Given the description of an element on the screen output the (x, y) to click on. 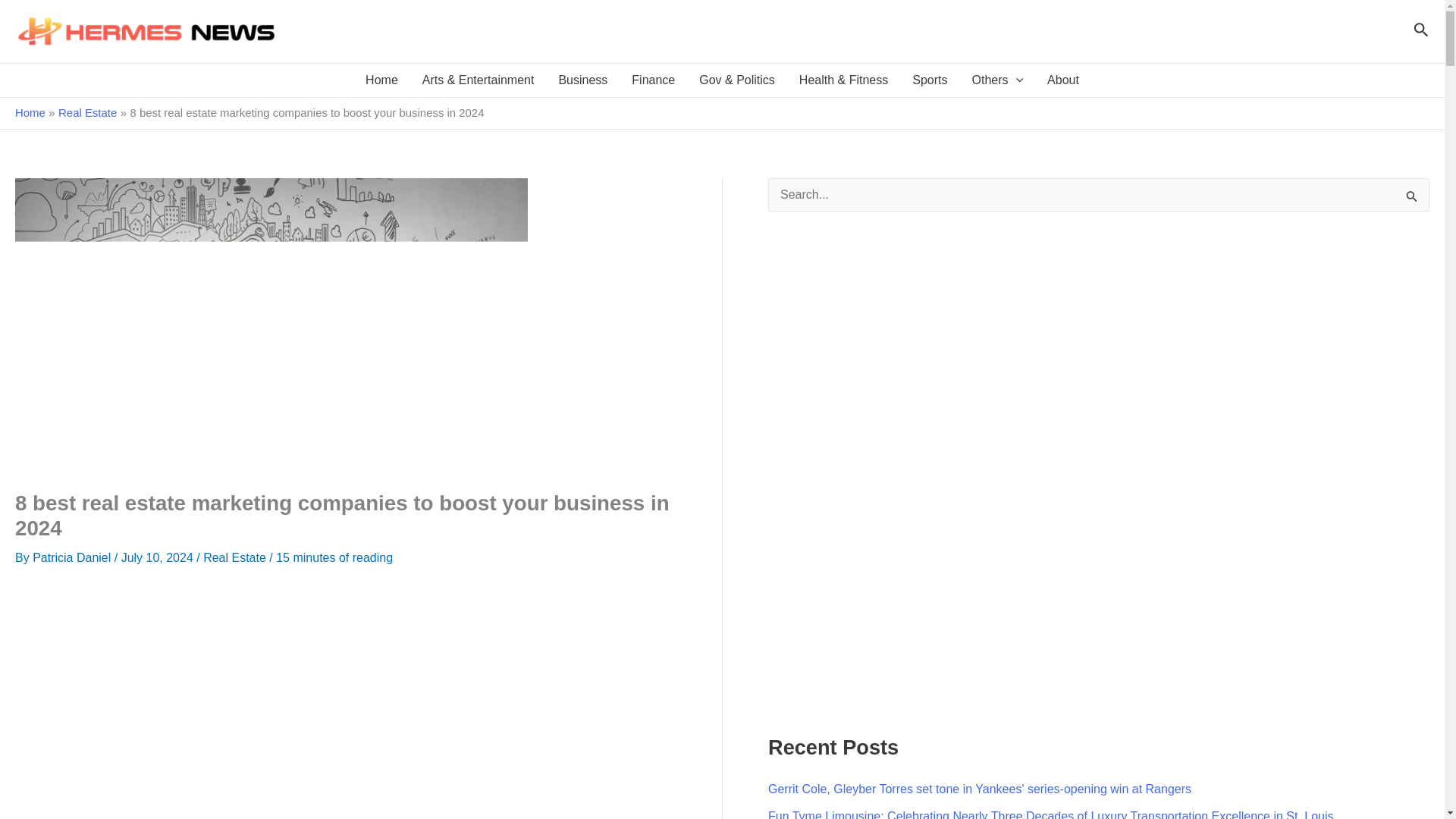
Home (381, 80)
View all posts by Patricia Daniel (73, 557)
Sports (929, 80)
Finance (653, 80)
Business (583, 80)
About (1062, 80)
Others (997, 80)
